Given the description of an element on the screen output the (x, y) to click on. 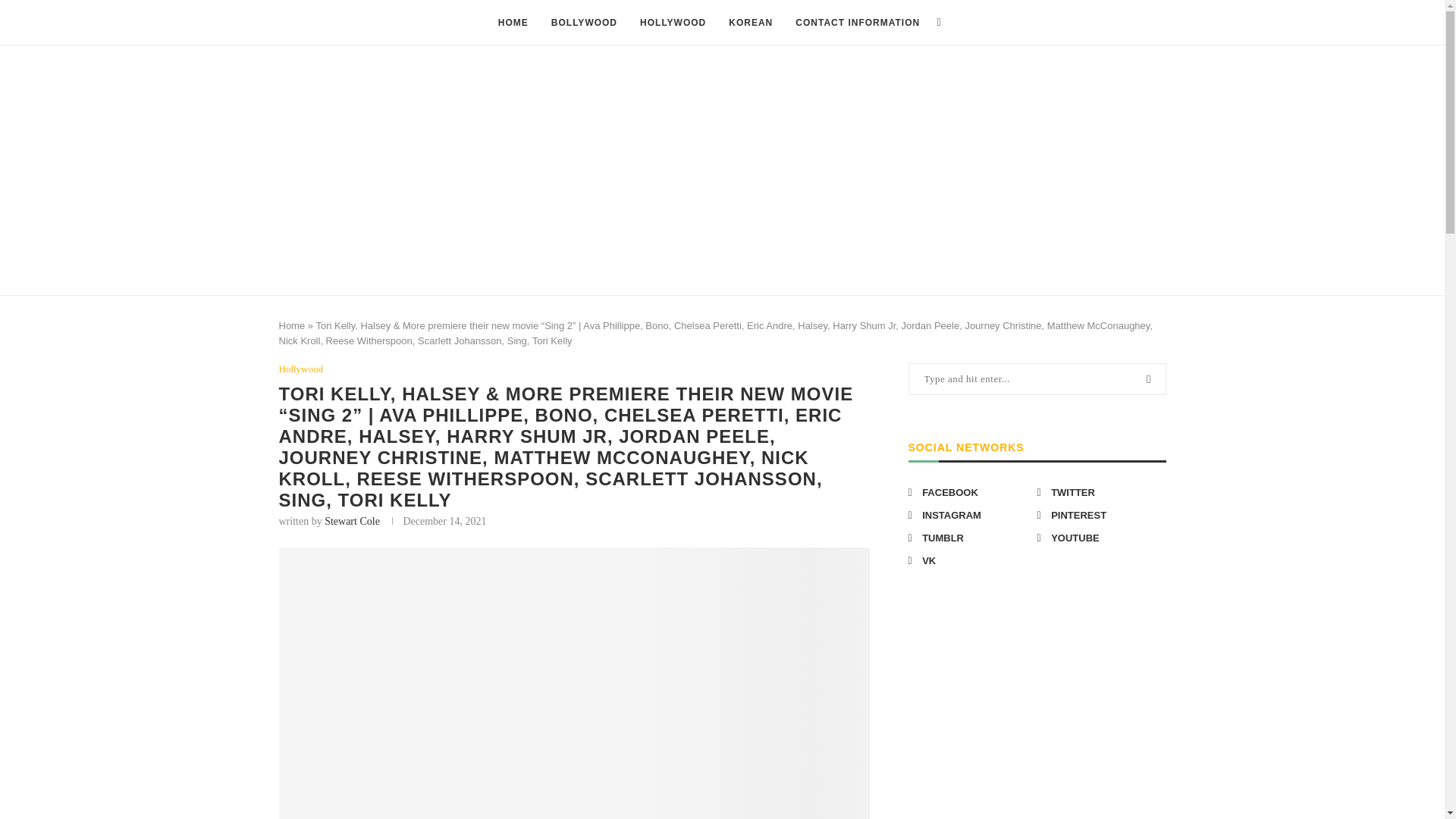
CONTACT INFORMATION (857, 22)
HOLLYWOOD (673, 22)
KOREAN (751, 22)
BOLLYWOOD (584, 22)
Home (292, 325)
Stewart Cole (352, 521)
Hollywood (301, 369)
